Given the description of an element on the screen output the (x, y) to click on. 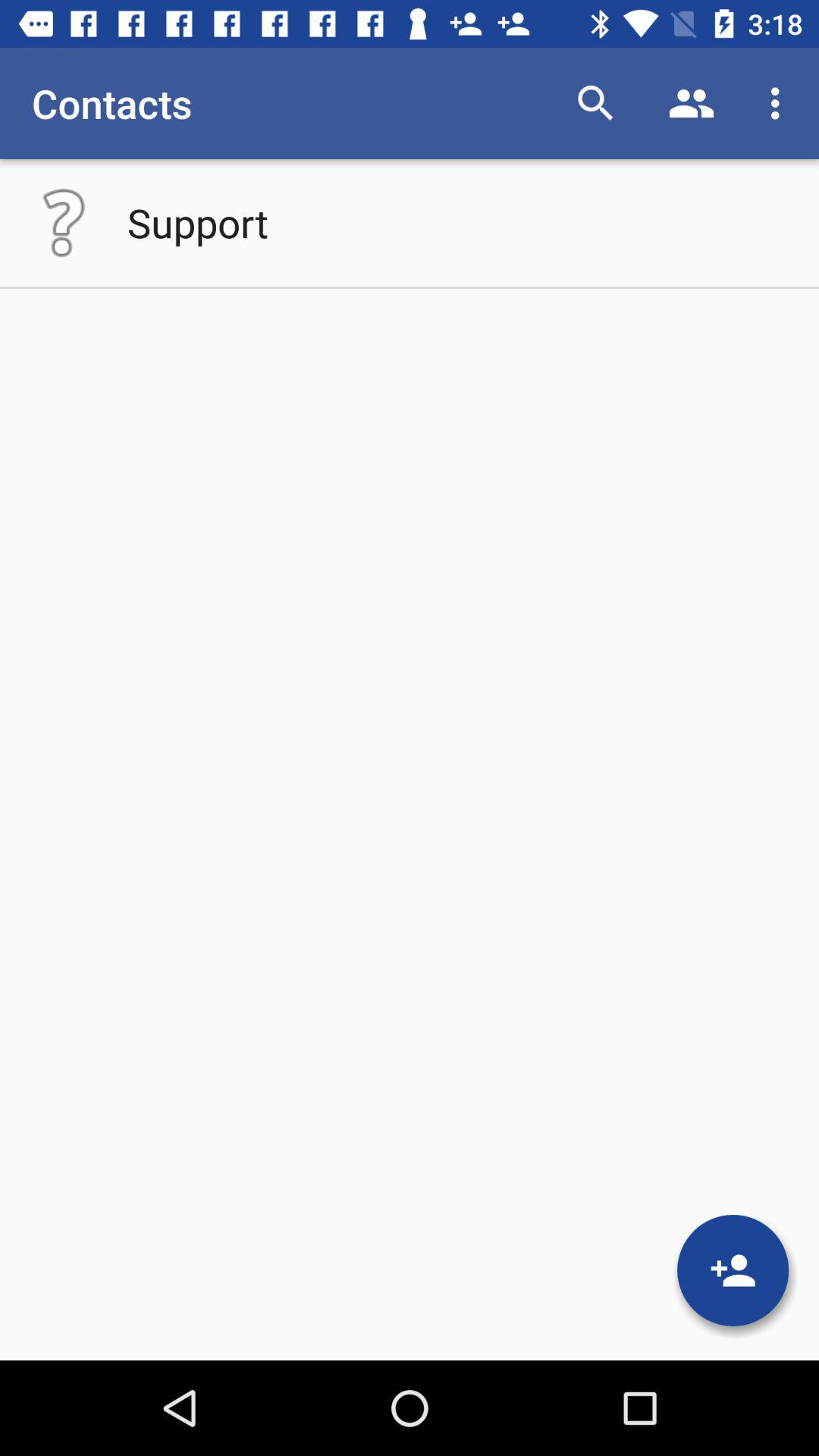
click the icon to the left of the support item (63, 222)
